Given the description of an element on the screen output the (x, y) to click on. 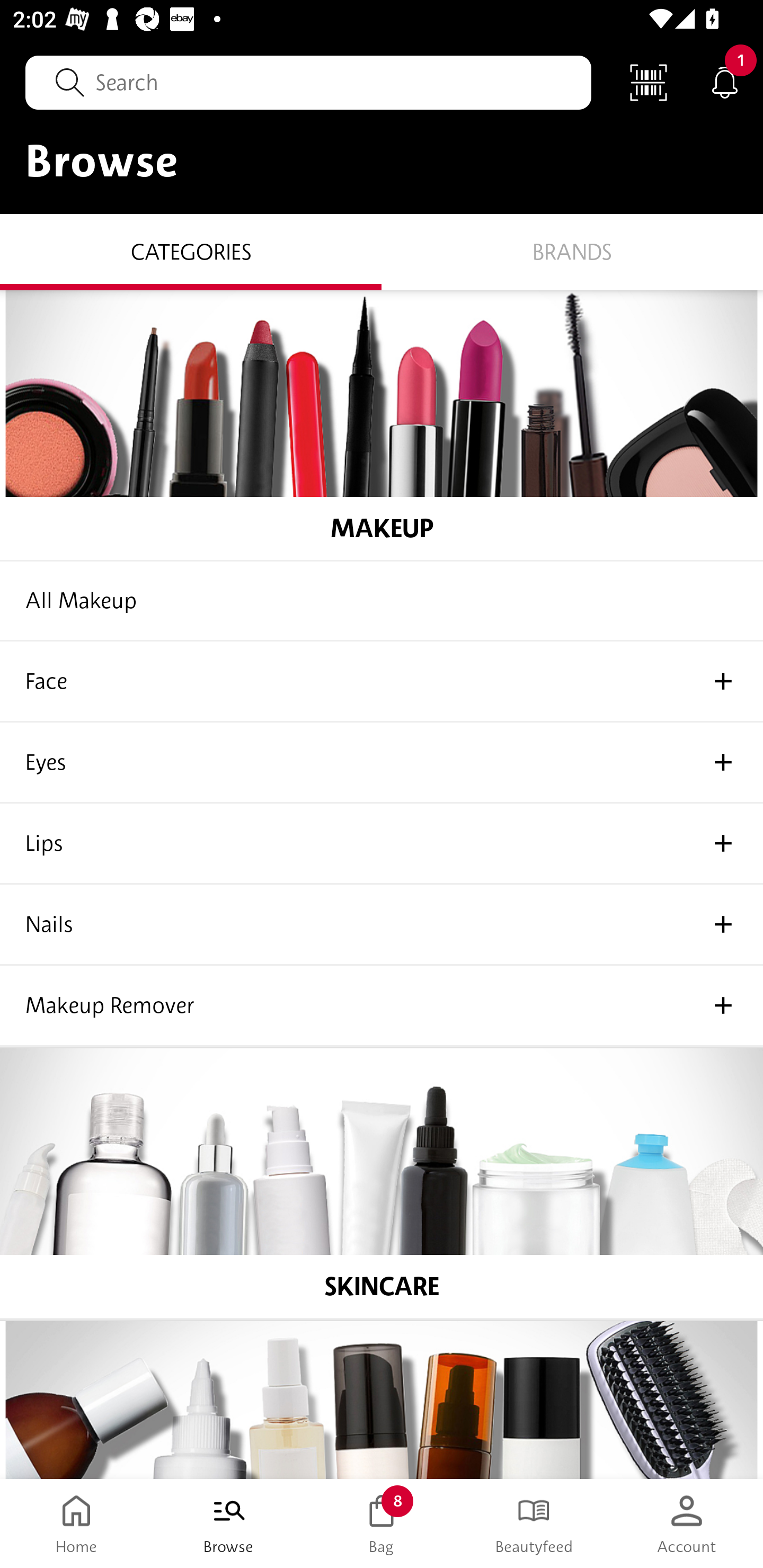
Scan Code (648, 81)
Notifications (724, 81)
Search (308, 81)
Brands BRANDS (572, 251)
All Makeup (381, 601)
Face (381, 681)
Eyes (381, 762)
Lips (381, 843)
Nails (381, 924)
Makeup Remover (381, 1006)
SKINCARE (381, 1184)
Home (76, 1523)
Bag 8 Bag (381, 1523)
Beautyfeed (533, 1523)
Account (686, 1523)
